Given the description of an element on the screen output the (x, y) to click on. 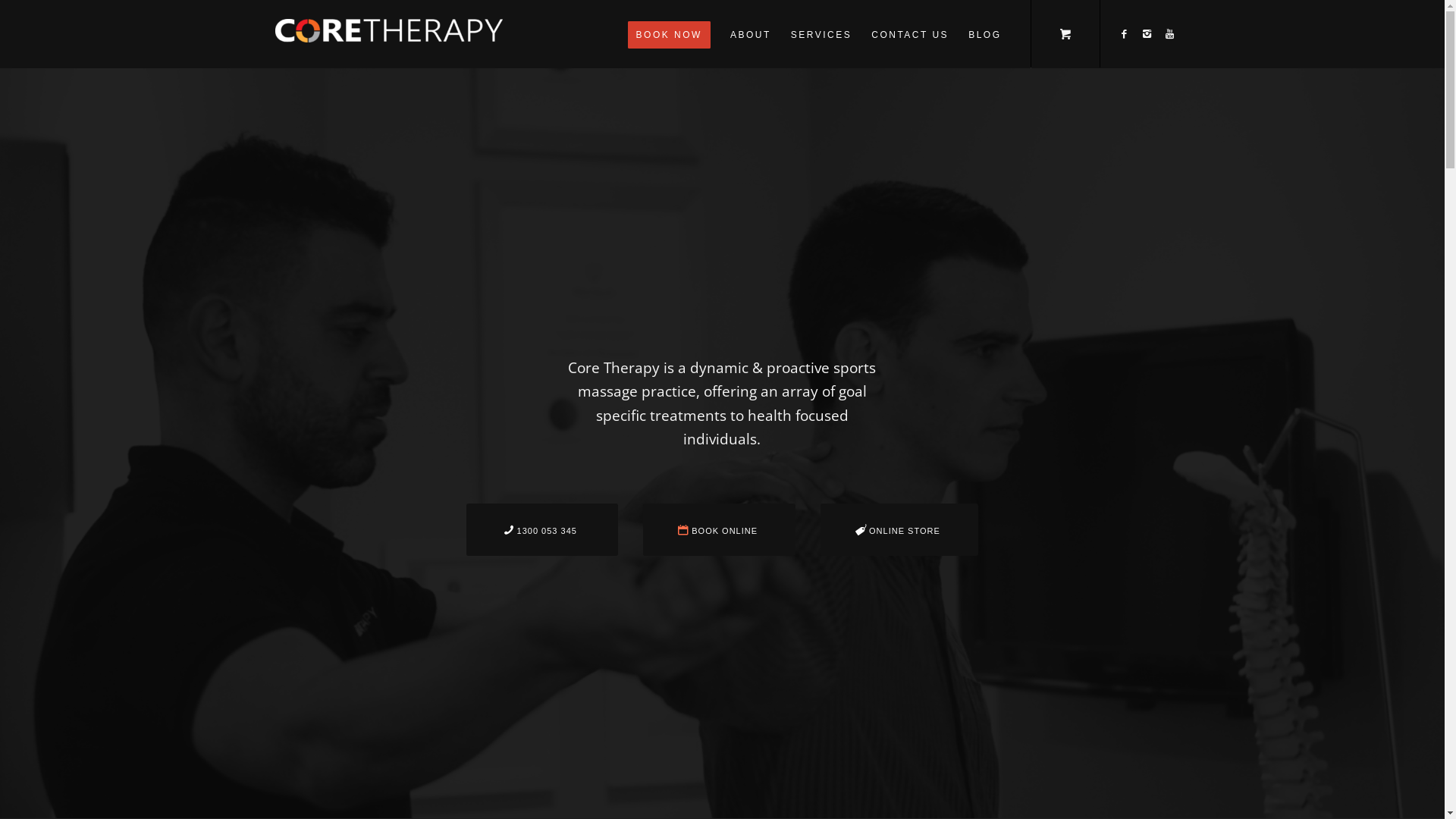
SERVICES Element type: text (821, 34)
CONTACT US Element type: text (909, 34)
ABOUT Element type: text (750, 34)
BLOG Element type: text (984, 34)
BOOK ONLINE Element type: text (719, 529)
1300 053 345 Element type: text (542, 529)
Youtube Element type: hover (1169, 32)
ONLINE STORE Element type: text (899, 529)
Facebook Element type: hover (1124, 32)
Instagram Element type: hover (1146, 32)
BOOK NOW Element type: text (669, 34)
